Given the description of an element on the screen output the (x, y) to click on. 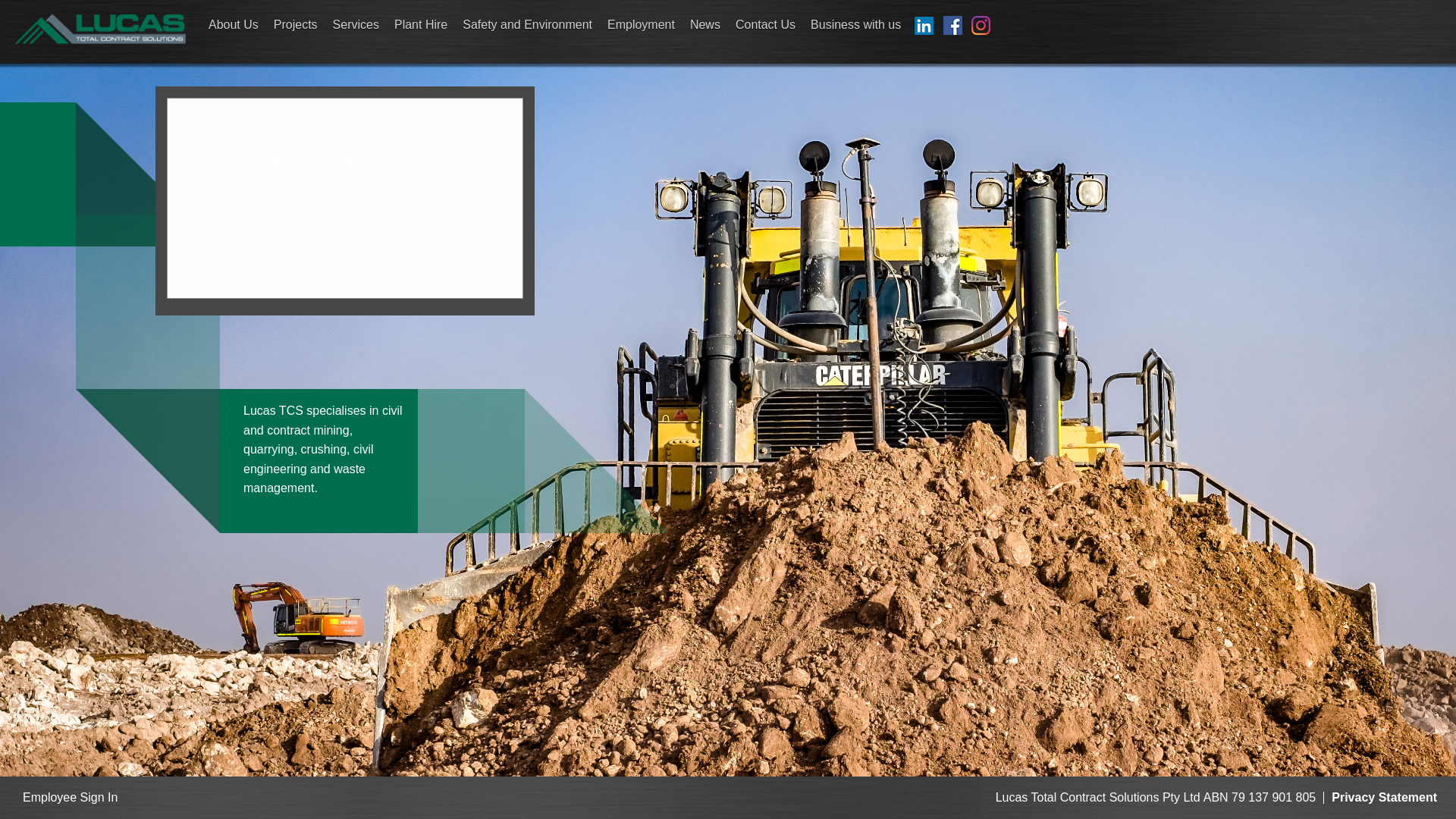
Contact Us Element type: text (765, 24)
Instagram Element type: hover (977, 24)
Plant Hire Element type: text (420, 24)
News Element type: text (705, 24)
About Us Element type: text (233, 24)
Safety and Environment Element type: text (527, 24)
Services Element type: text (355, 24)
Employment Element type: text (640, 24)
Privacy Statement Element type: text (1384, 796)
Business with us Element type: text (855, 24)
Projects Element type: text (295, 24)
Linked In Element type: hover (920, 24)
Employee Sign In Element type: text (69, 796)
Facebook Element type: hover (949, 24)
